Given the description of an element on the screen output the (x, y) to click on. 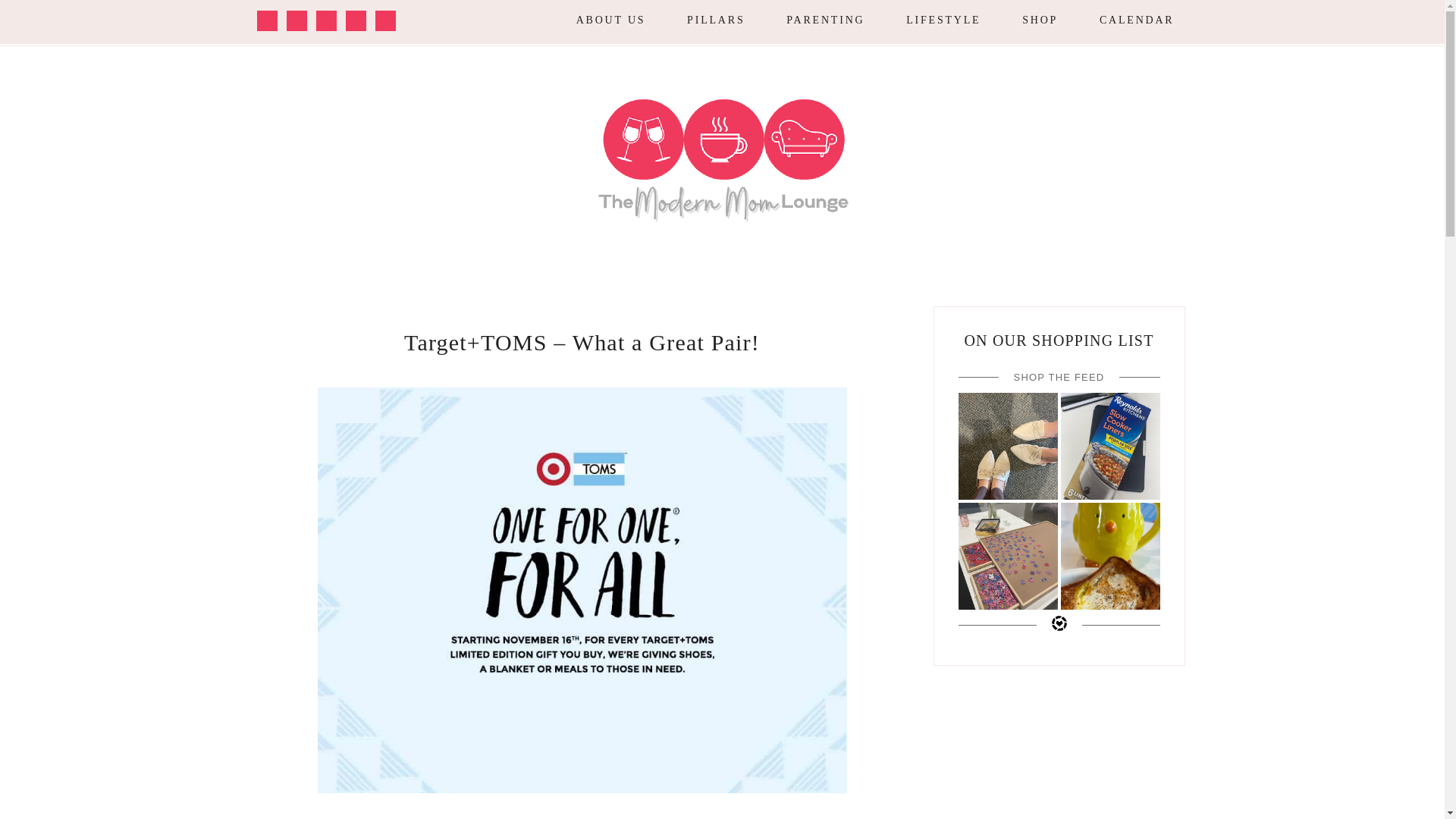
PILLARS (715, 20)
ABOUT US (610, 20)
PARENTING (825, 22)
LIFESTYLE (943, 22)
